Given the description of an element on the screen output the (x, y) to click on. 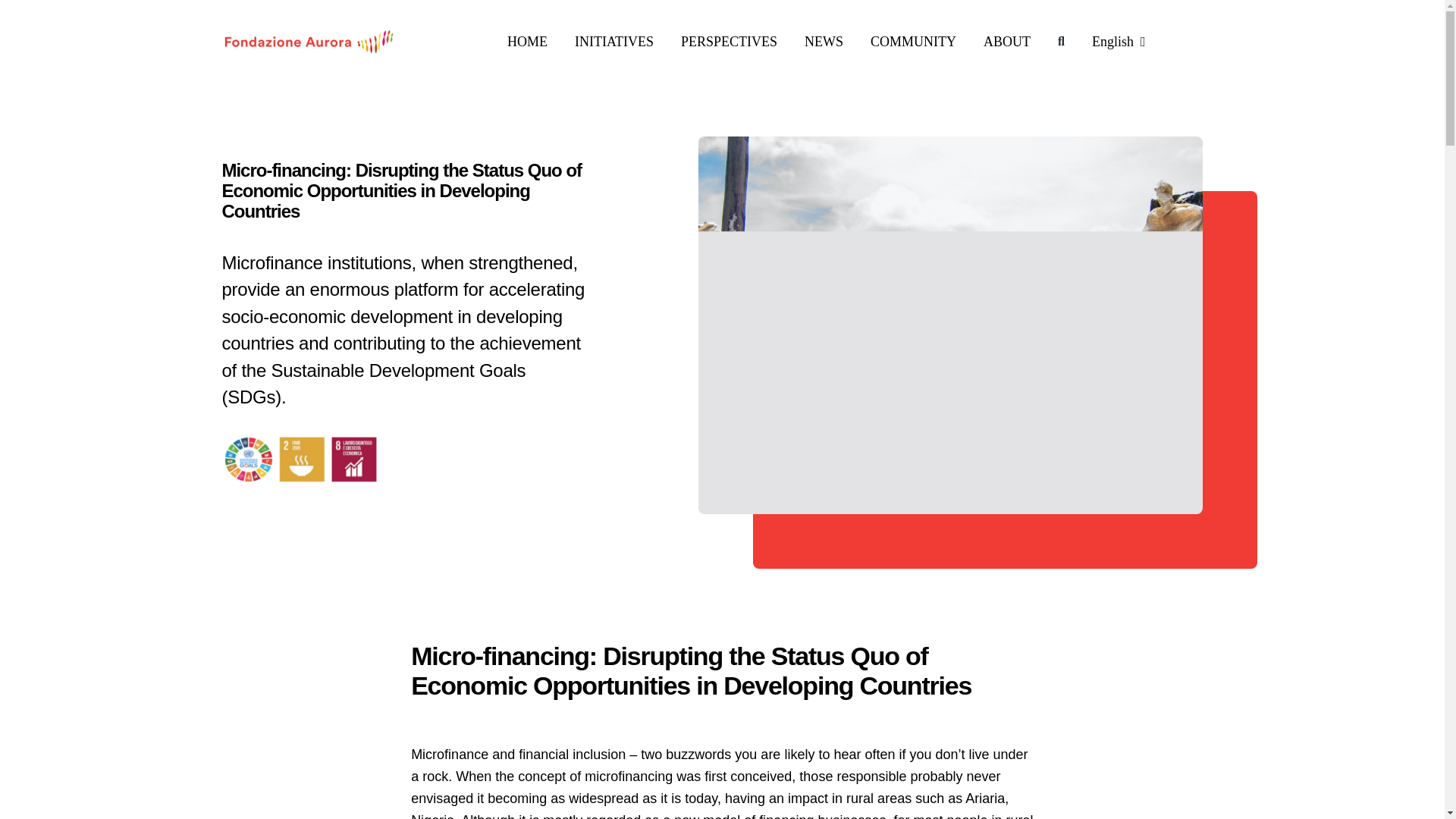
Page 1 (721, 781)
INITIATIVES (614, 42)
English (1118, 42)
HOME (526, 42)
NEWS (823, 42)
PERSPECTIVES (729, 42)
COMMUNITY (913, 42)
English (1118, 42)
ABOUT (1006, 42)
microfinancing (404, 459)
